Given the description of an element on the screen output the (x, y) to click on. 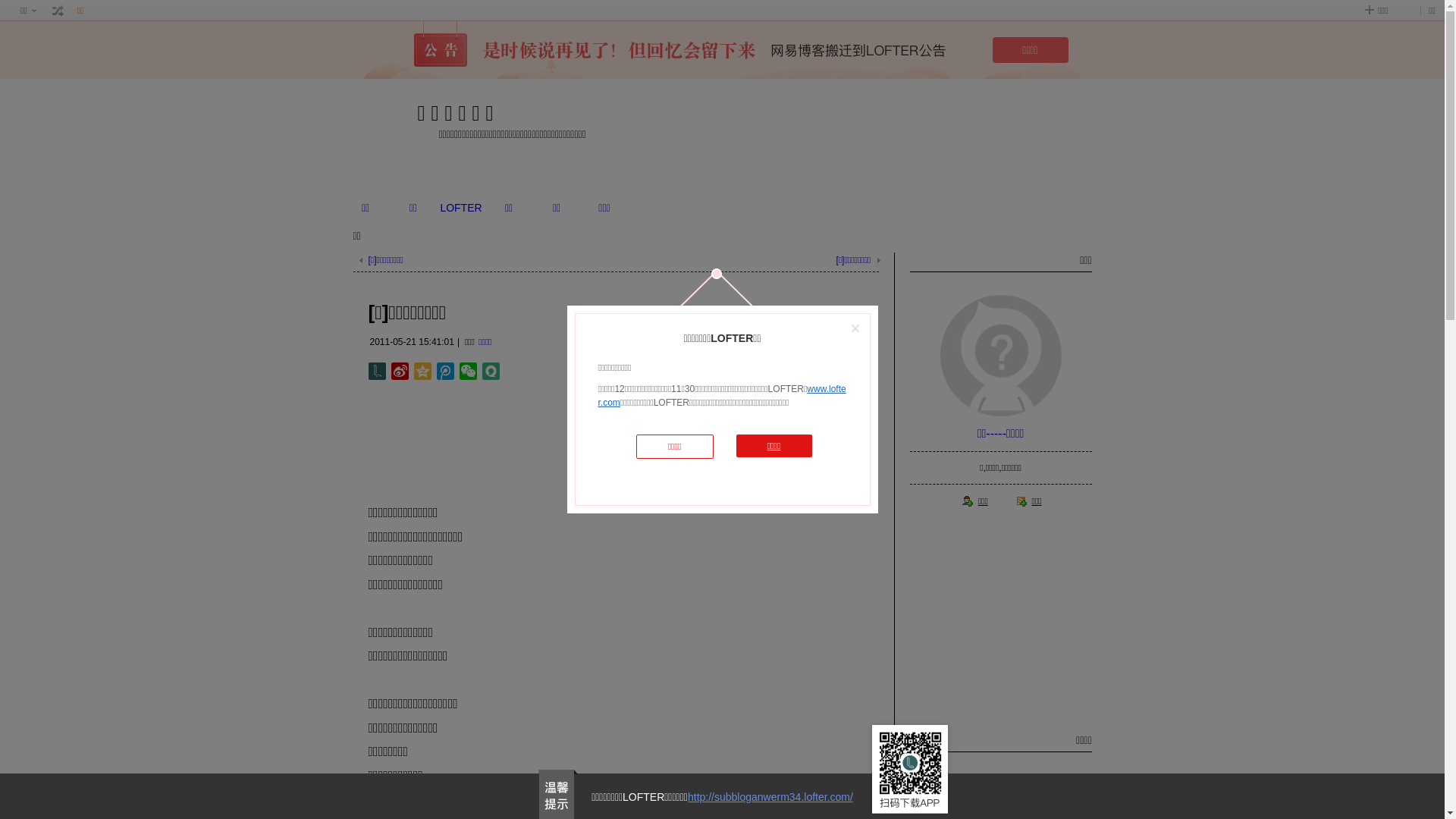
LOFTER Element type: text (460, 207)
http://subbloganwerm34.lofter.com/ Element type: text (770, 796)
www.lofter.com Element type: text (721, 395)
  Element type: text (58, 10)
